Given the description of an element on the screen output the (x, y) to click on. 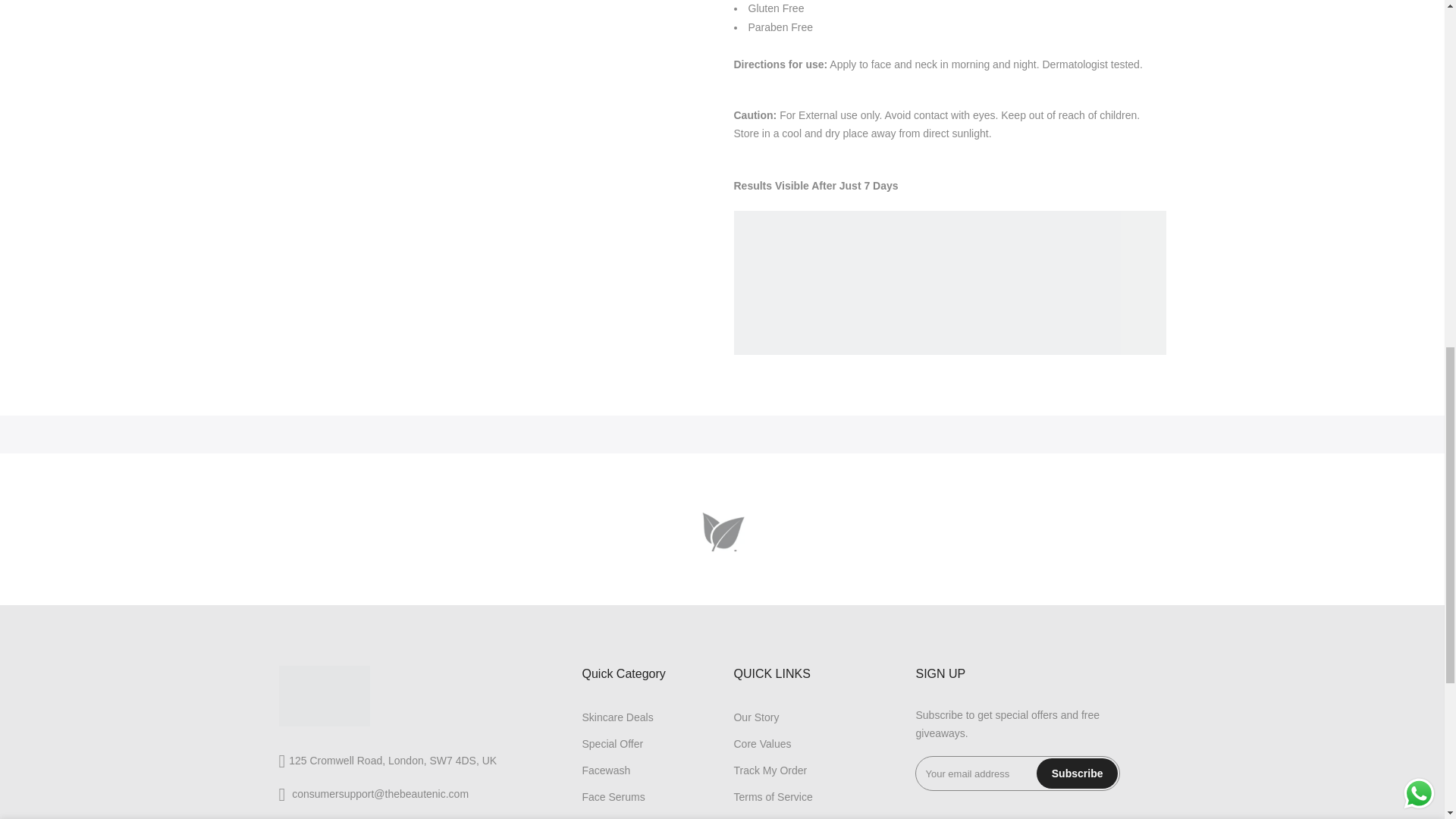
Special Offer (611, 743)
Core Values (761, 743)
Face Serums (612, 797)
Hair Care (603, 818)
Facewash (605, 770)
1 (1001, 35)
Our Story (755, 717)
Track My Order (769, 770)
Skincare Deals (616, 717)
